Given the description of an element on the screen output the (x, y) to click on. 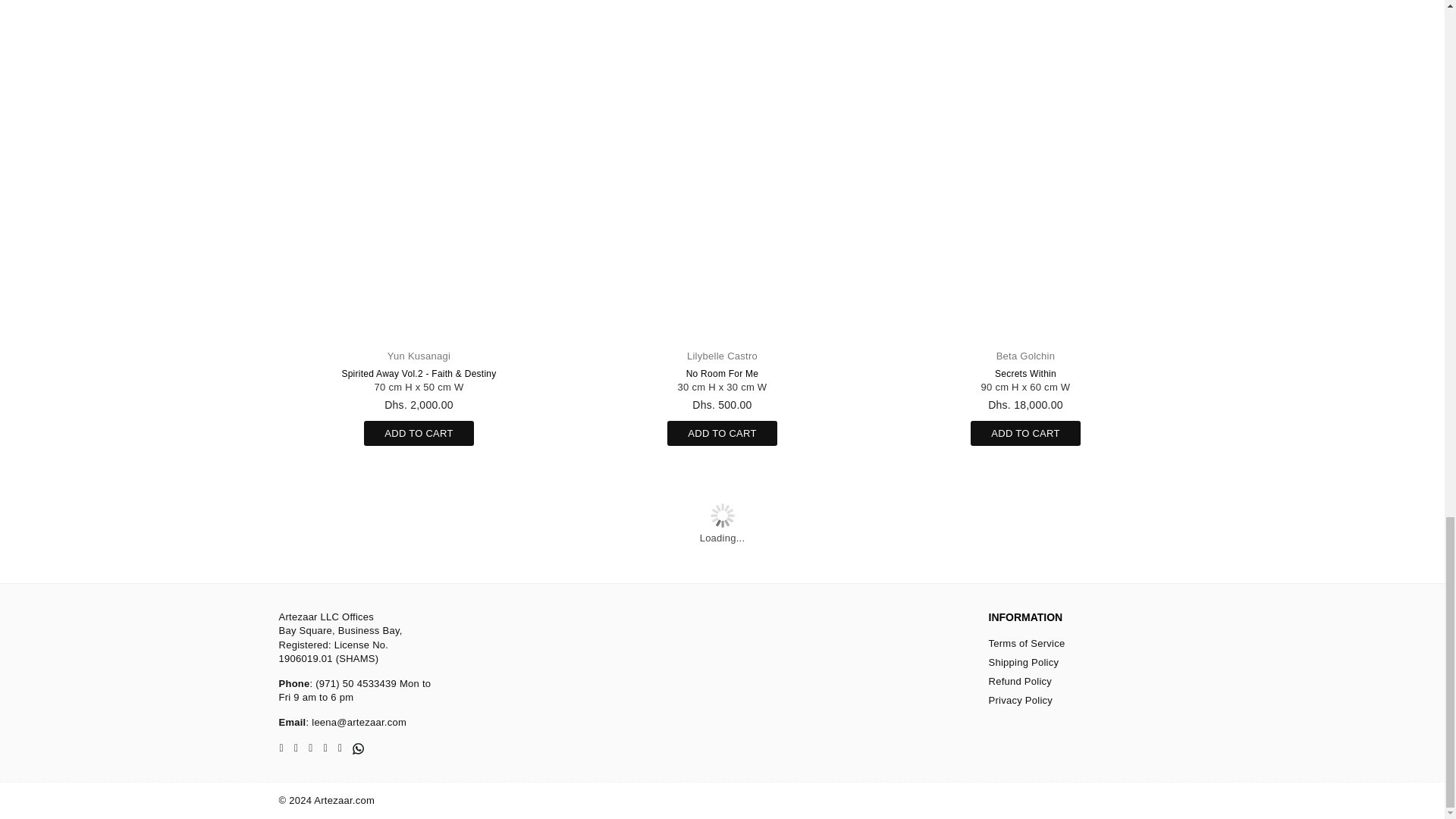
Artezaar.com Online Art Gallery on Twitter (295, 748)
Artezaar.com Online Art Gallery on Linkedin (325, 748)
Artezaar.com Online Art Gallery on Whatsapp (358, 748)
Artezaar.com Online Art Gallery on YouTube (340, 748)
Artezaar.com Online Art Gallery on Instagram (309, 748)
Artezaar.com Online Art Gallery on Facebook (281, 748)
